Given the description of an element on the screen output the (x, y) to click on. 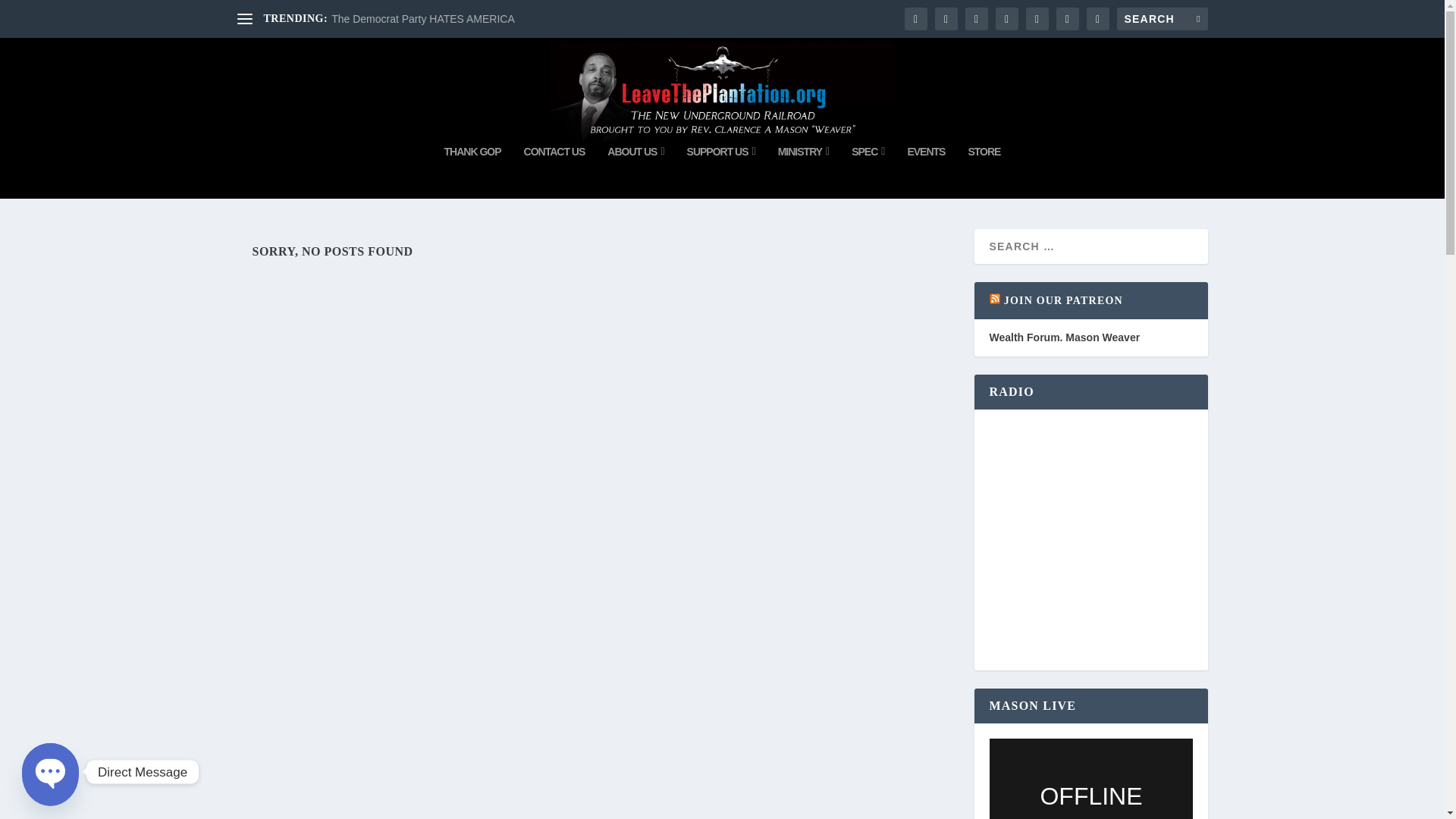
ABOUT US (635, 172)
Search for: (1161, 18)
MINISTRY (803, 172)
THANK GOP (472, 172)
The Democrat Party HATES AMERICA (423, 19)
CONTACT US (554, 172)
SUPPORT US (721, 172)
